Given the description of an element on the screen output the (x, y) to click on. 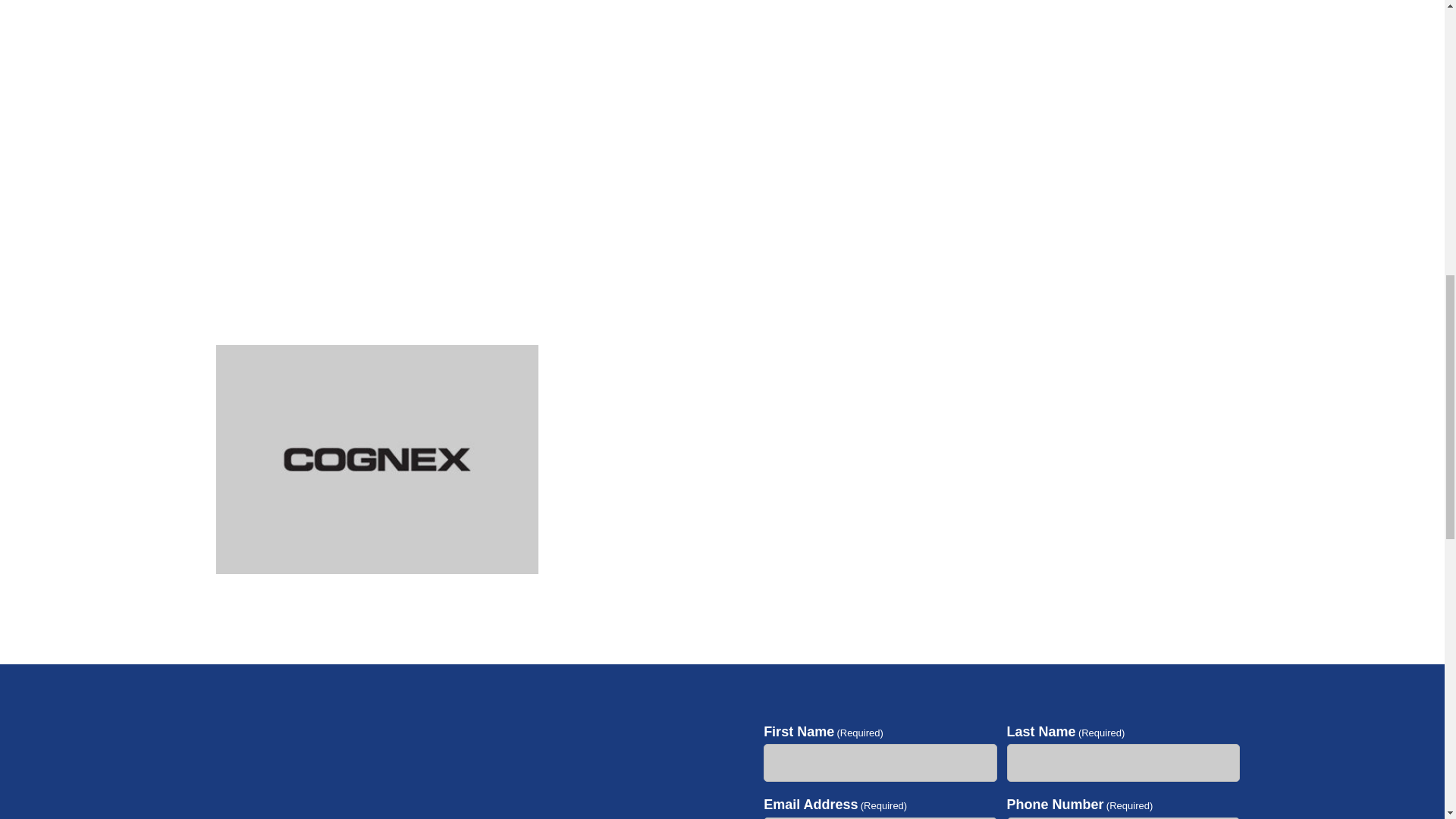
keyence-vision-automation-solution-partner (721, 569)
teledyne-technologies-vision-automation-solution-partner (1066, 569)
cognex-vision-automation-solution-partner (376, 569)
